Given the description of an element on the screen output the (x, y) to click on. 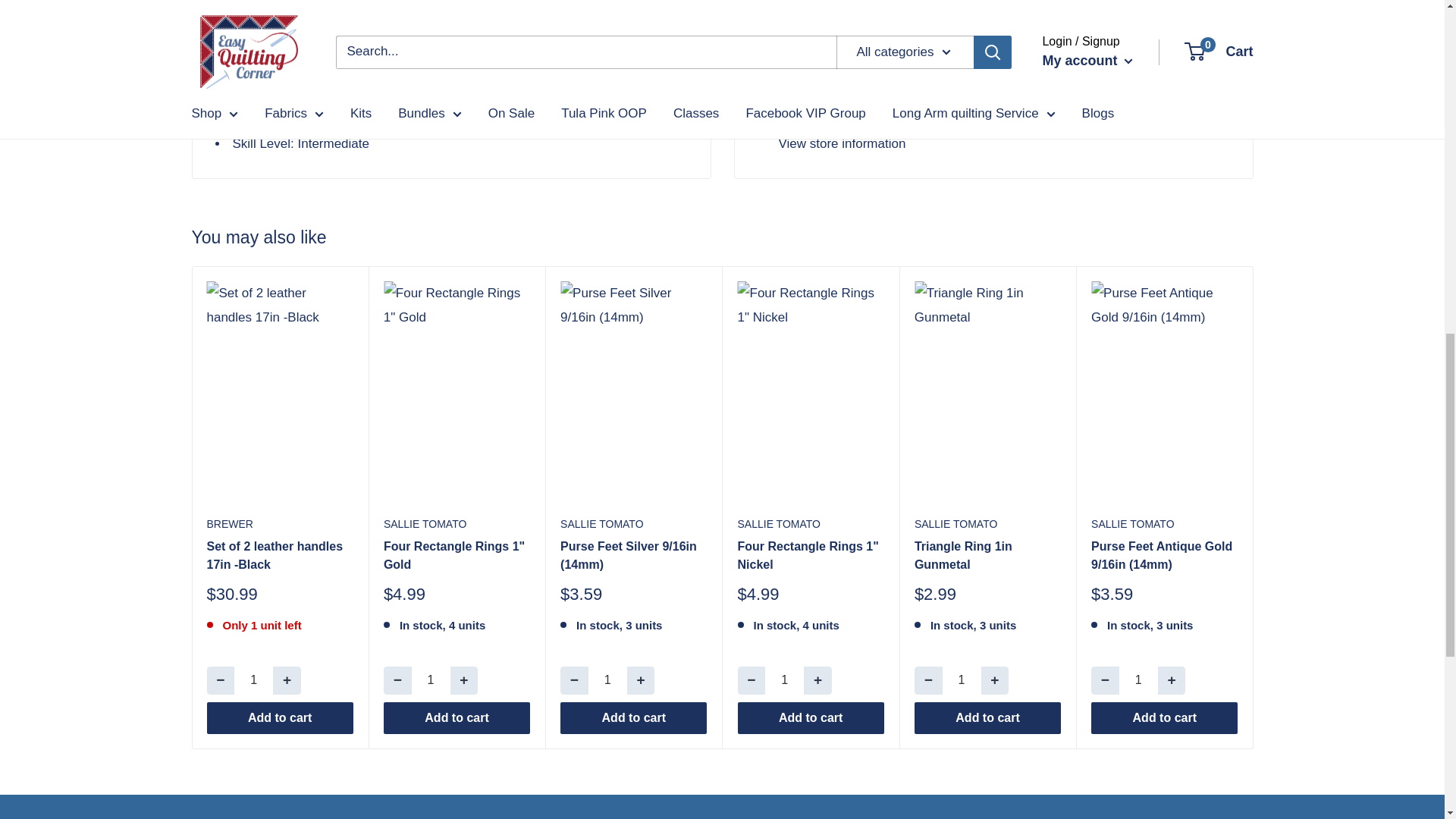
Decrease Quantity (398, 680)
Decrease Quantity (750, 680)
Decrease Quantity (574, 680)
1 (430, 680)
1 (607, 680)
Increase Quantity (995, 680)
Increase Quantity (1171, 680)
1 (1138, 680)
1 (253, 680)
1 (961, 680)
Decrease Quantity (928, 680)
Increase Quantity (287, 680)
Decrease Quantity (220, 680)
Increase Quantity (641, 680)
1 (784, 680)
